Given the description of an element on the screen output the (x, y) to click on. 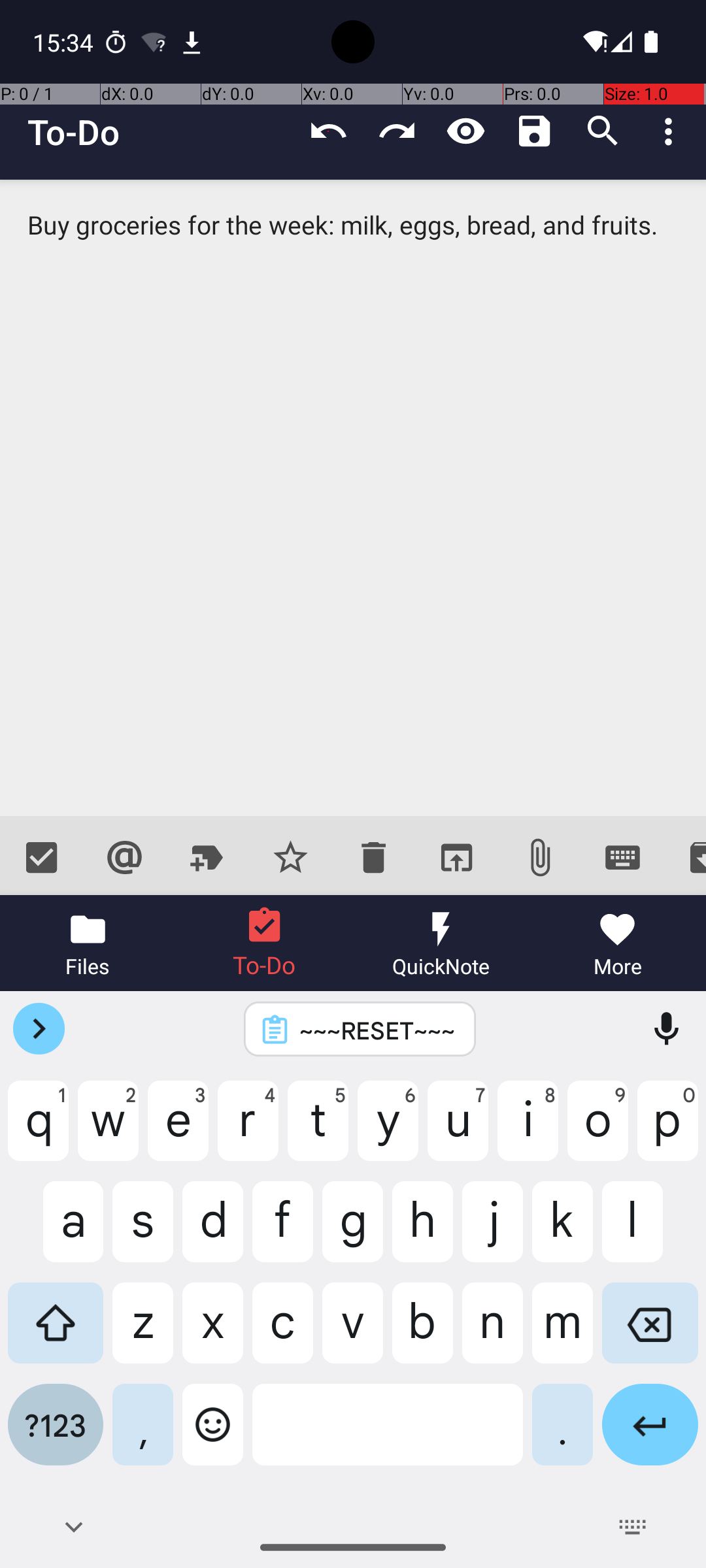
Buy groceries for the week: milk, eggs, bread, and fruits. Element type: android.widget.EditText (353, 497)
